Given the description of an element on the screen output the (x, y) to click on. 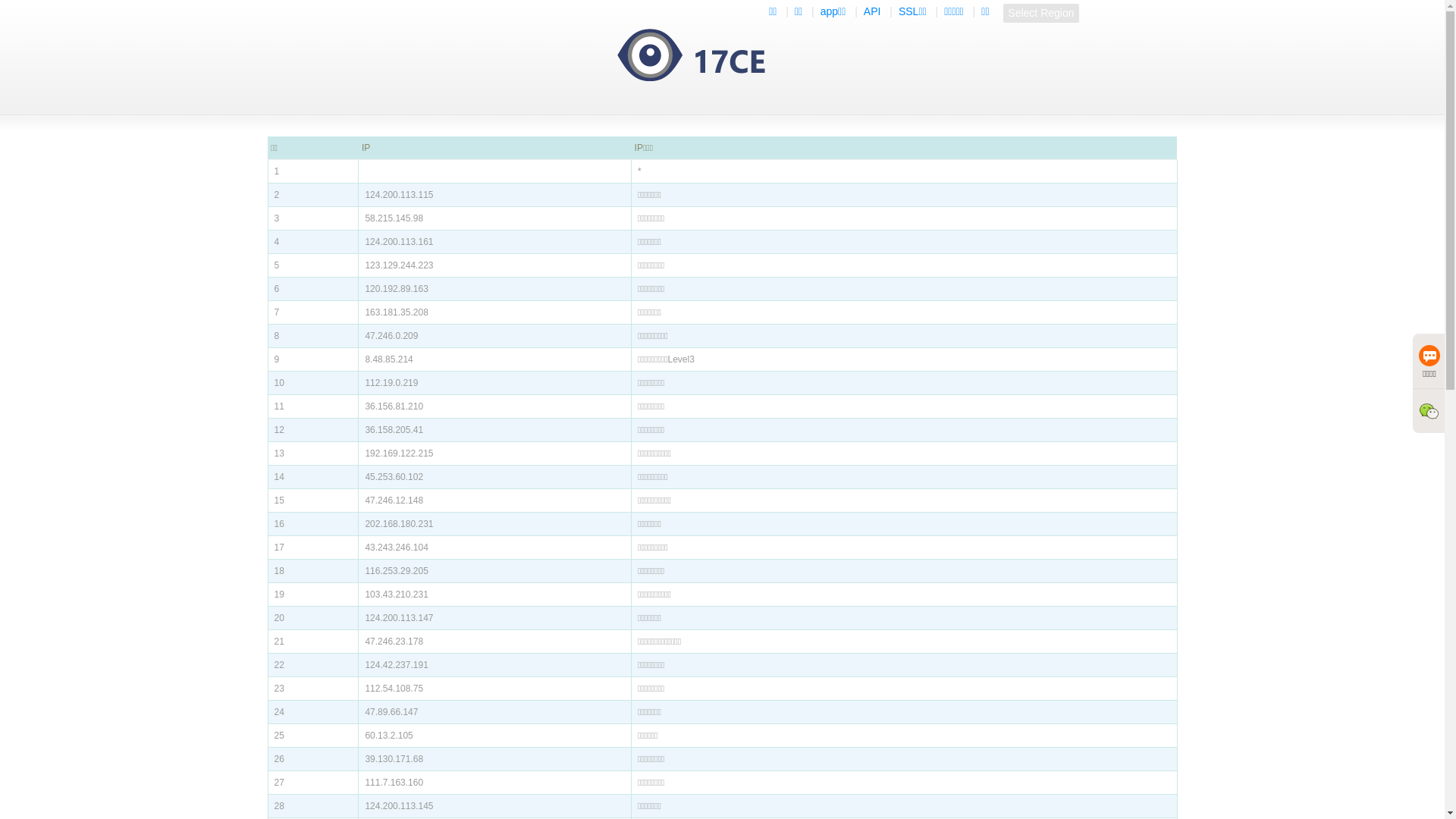
Select Region Element type: text (1040, 12)
API Element type: text (872, 11)
